Given the description of an element on the screen output the (x, y) to click on. 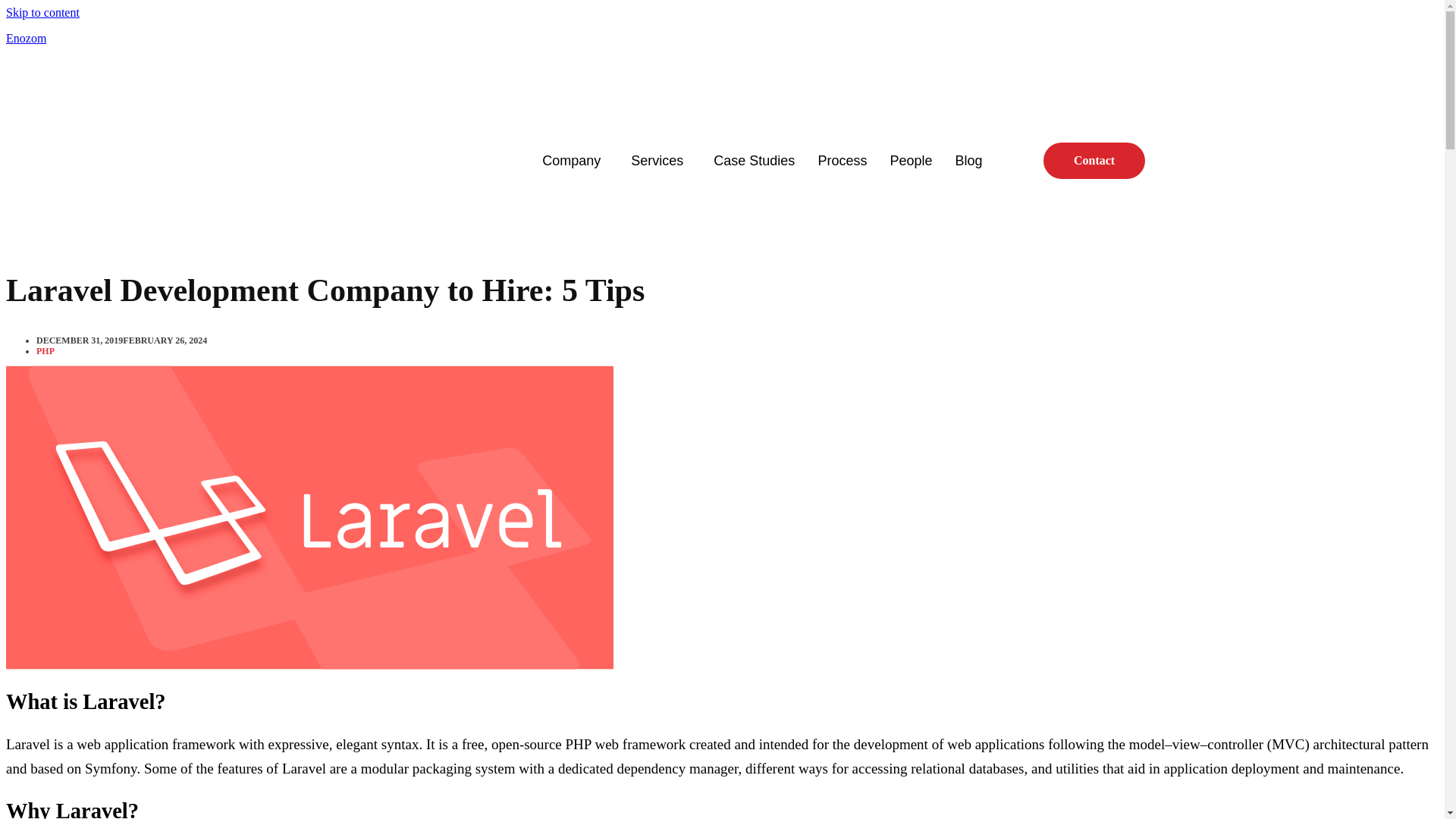
People (910, 160)
Blog (968, 160)
Enozom (25, 38)
Services (660, 160)
Process (841, 160)
Enozom (25, 38)
Company (574, 160)
Contact (1093, 160)
Case Studies (753, 160)
PHP (45, 350)
Skip to content (42, 11)
